Given the description of an element on the screen output the (x, y) to click on. 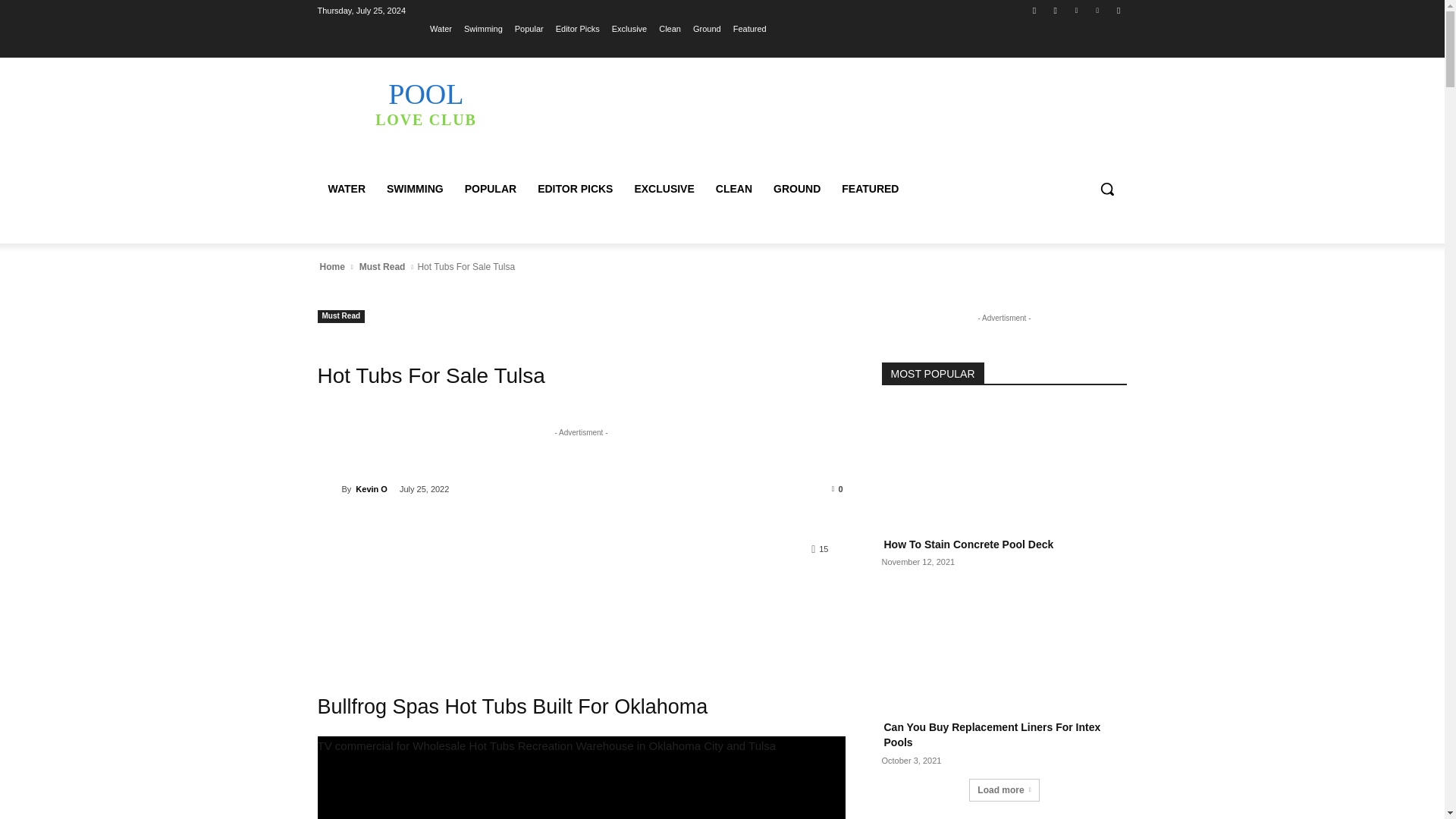
Swimming (483, 28)
Ground (706, 28)
Clean (670, 28)
View all posts in Must Read (381, 266)
Exclusive (628, 28)
CLEAN (733, 188)
Youtube (425, 102)
Kevin O (1117, 9)
Water (328, 488)
FEATURED (440, 28)
EDITOR PICKS (869, 188)
GROUND (575, 188)
EXCLUSIVE (796, 188)
Vimeo (663, 188)
